Given the description of an element on the screen output the (x, y) to click on. 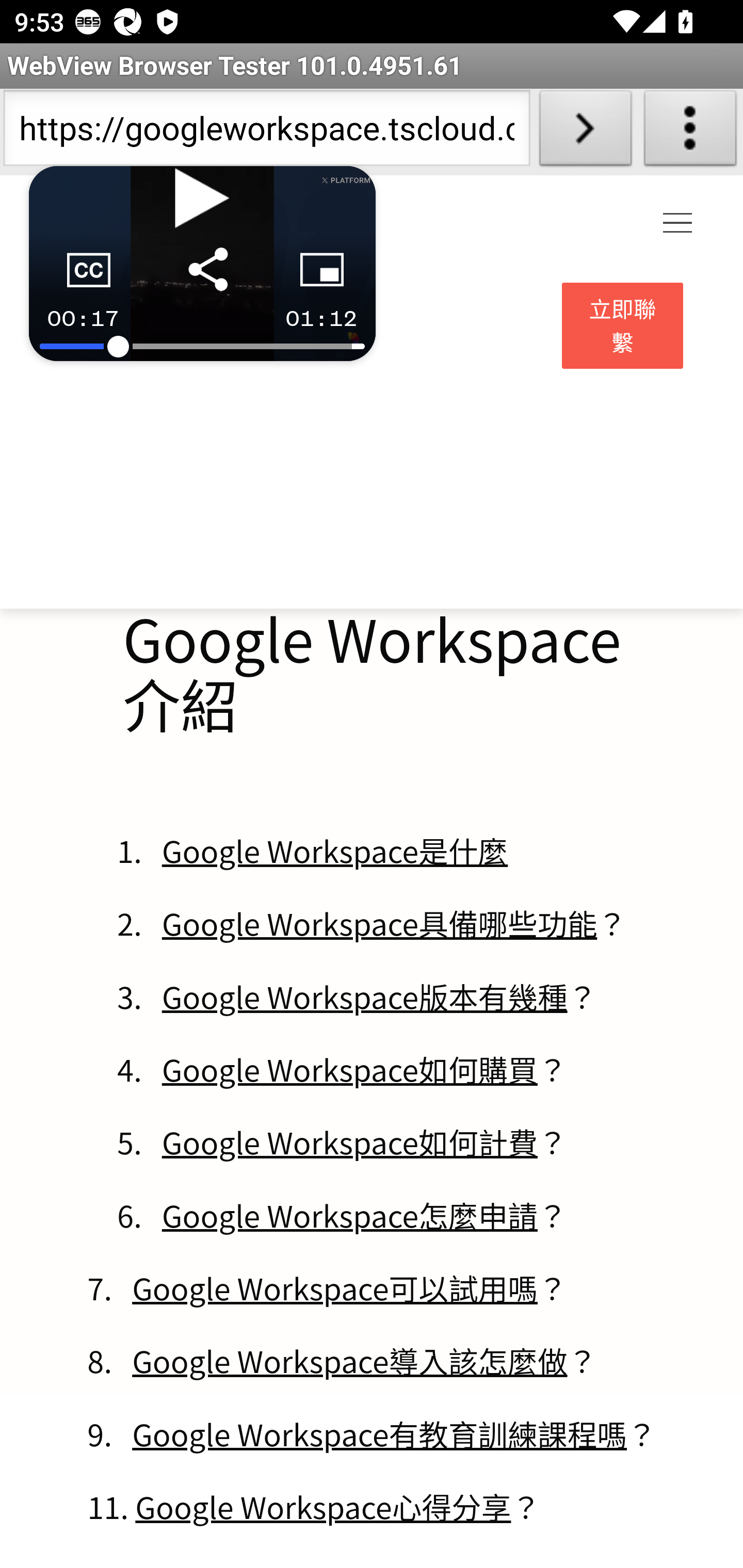
https://googleworkspace.tscloud.com.hk/ (266, 132)
Load URL (585, 132)
About WebView (690, 132)
javascript:void(0) (677, 223)
立即聯繫 (622, 325)
Google Workspace是什麼 (334, 849)
Google Workspace具備哪些功能 (378, 923)
Google Workspace版本有幾種 (364, 995)
Google Workspace如何購買 (348, 1068)
Google Workspace如何計費 (348, 1142)
Google Workspace怎麼申請 (348, 1214)
Google Workspace可以試用嗎 (334, 1287)
Google Workspace導入該怎麼做 (349, 1359)
Google Workspace有教育訓練課程嗎 (379, 1432)
Google Workspace心得分享 (322, 1504)
